Given the description of an element on the screen output the (x, y) to click on. 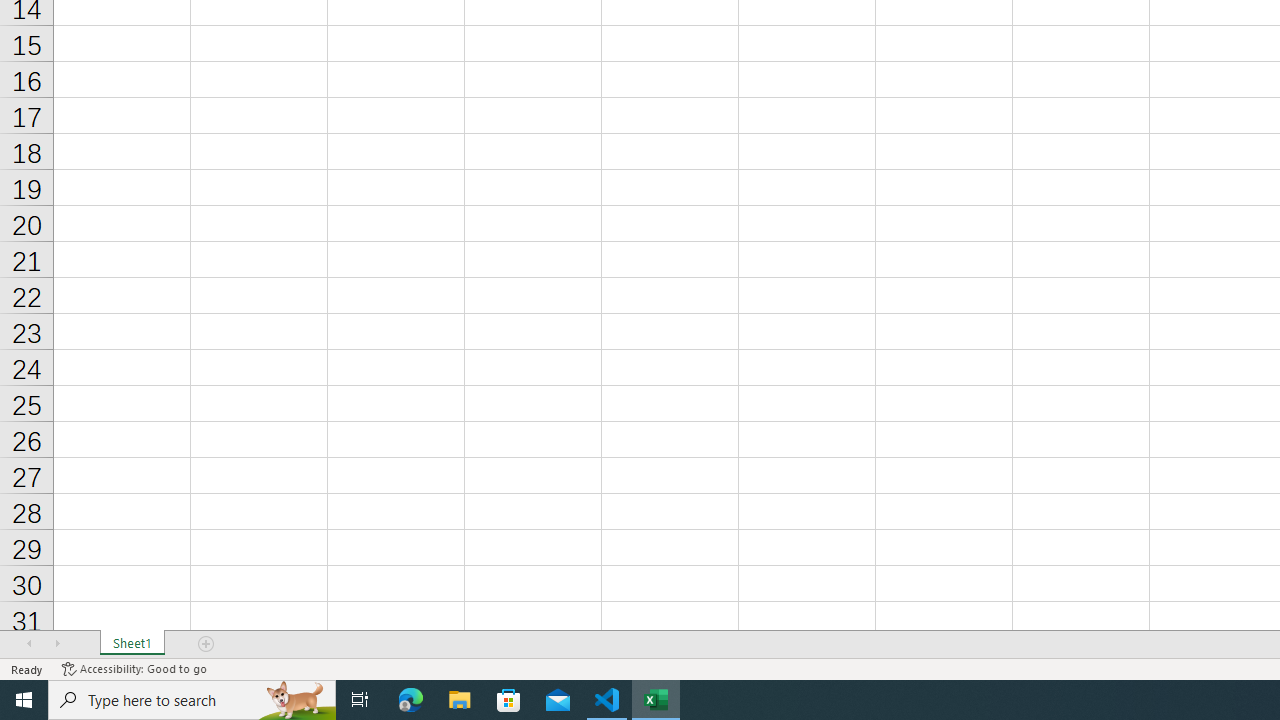
Accessibility Checker Accessibility: Good to go (134, 668)
Sheet1 (132, 644)
Scroll Left (29, 644)
Add Sheet (207, 644)
Scroll Right (57, 644)
